Given the description of an element on the screen output the (x, y) to click on. 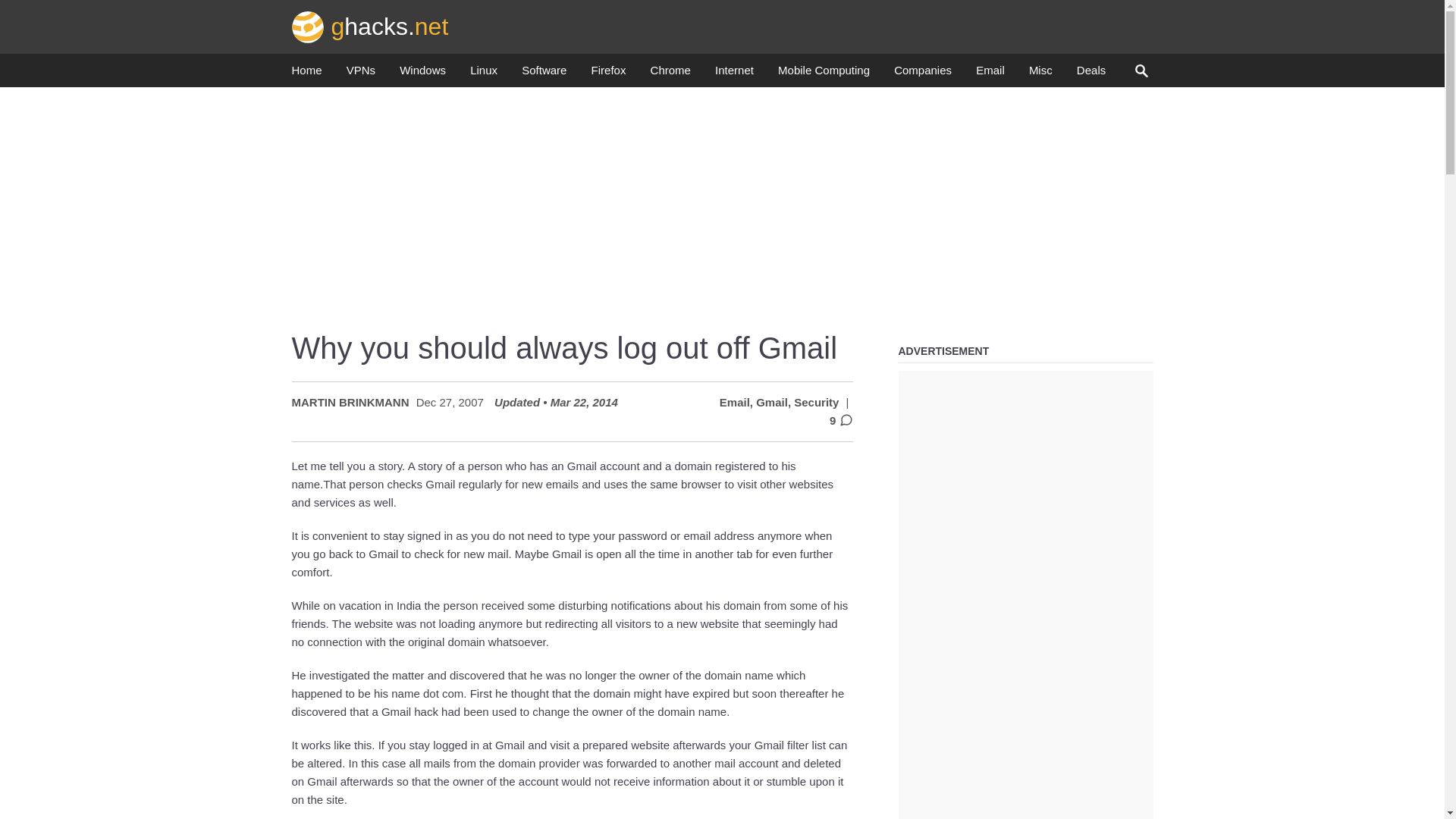
Windows (421, 73)
Misc (1040, 73)
Internet (734, 73)
ghacks.net (369, 26)
Software (543, 73)
Chrome (670, 73)
Email (989, 73)
VPNs (360, 73)
Companies (922, 73)
Linux (483, 73)
